Given the description of an element on the screen output the (x, y) to click on. 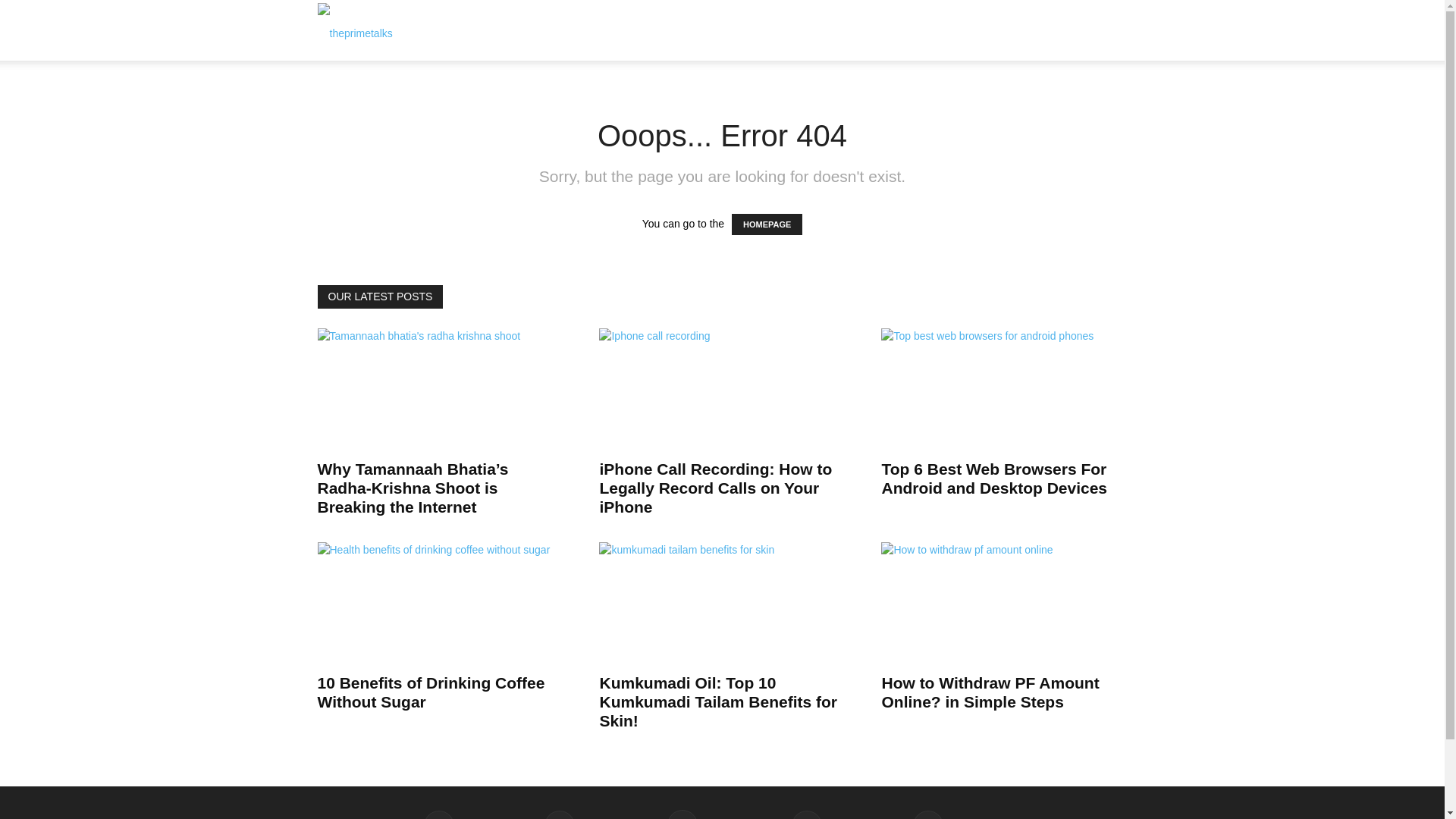
NEWS (510, 30)
Search (1085, 102)
Theprimetalks (354, 30)
